Given the description of an element on the screen output the (x, y) to click on. 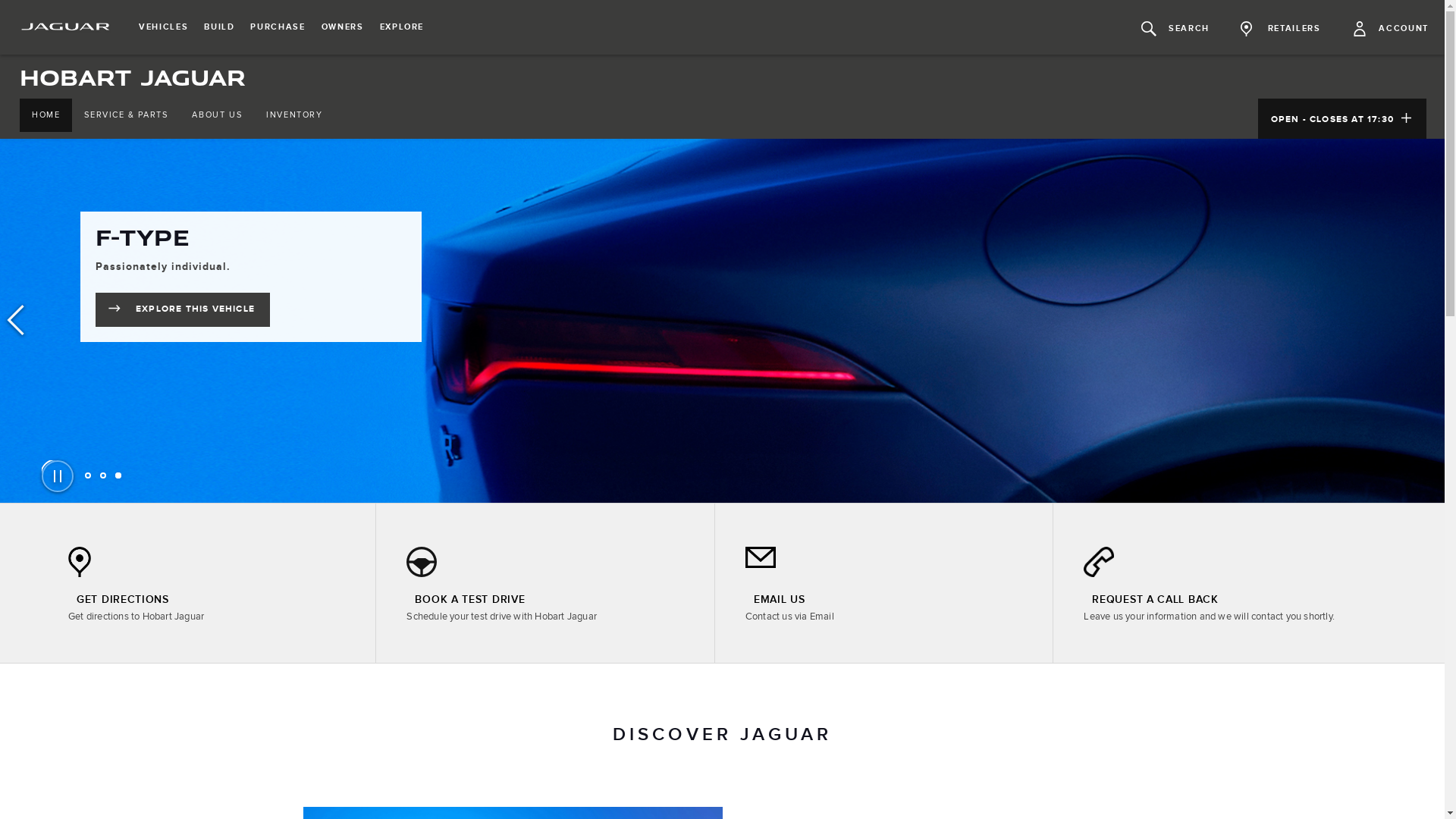
EXPLORE Element type: text (402, 27)
SERVICE & PARTS Element type: text (125, 114)
PURCHASE Element type: text (277, 27)
EXPLORE THIS VEHICLE
LINK OPENS IN NEW TAB Element type: text (182, 309)
OWNERS Element type: text (342, 27)
ABOUT US Element type: text (216, 114)
Next Element type: text (1429, 320)
VEHICLES Element type: text (163, 27)
OPEN - CLOSES AT 17:30 Element type: text (1342, 118)
Previous Element type: text (15, 320)
BUILD Element type: text (218, 27)
EMAIL US Element type: text (775, 599)
REQUEST A CALL BACK
LINK OPENS IN NEW TAB Element type: text (1150, 599)
HOME Element type: text (45, 114)
RETAILERS Element type: text (1280, 27)
ACCOUNT Element type: text (1389, 27)
INVENTORY Element type: text (294, 114)
BOOK A TEST DRIVE
LINK OPENS IN NEW TAB Element type: text (465, 599)
SEARCH Element type: text (1175, 27)
GET DIRECTIONS
LINK OPENS IN NEW TAB Element type: text (118, 599)
